Given the description of an element on the screen output the (x, y) to click on. 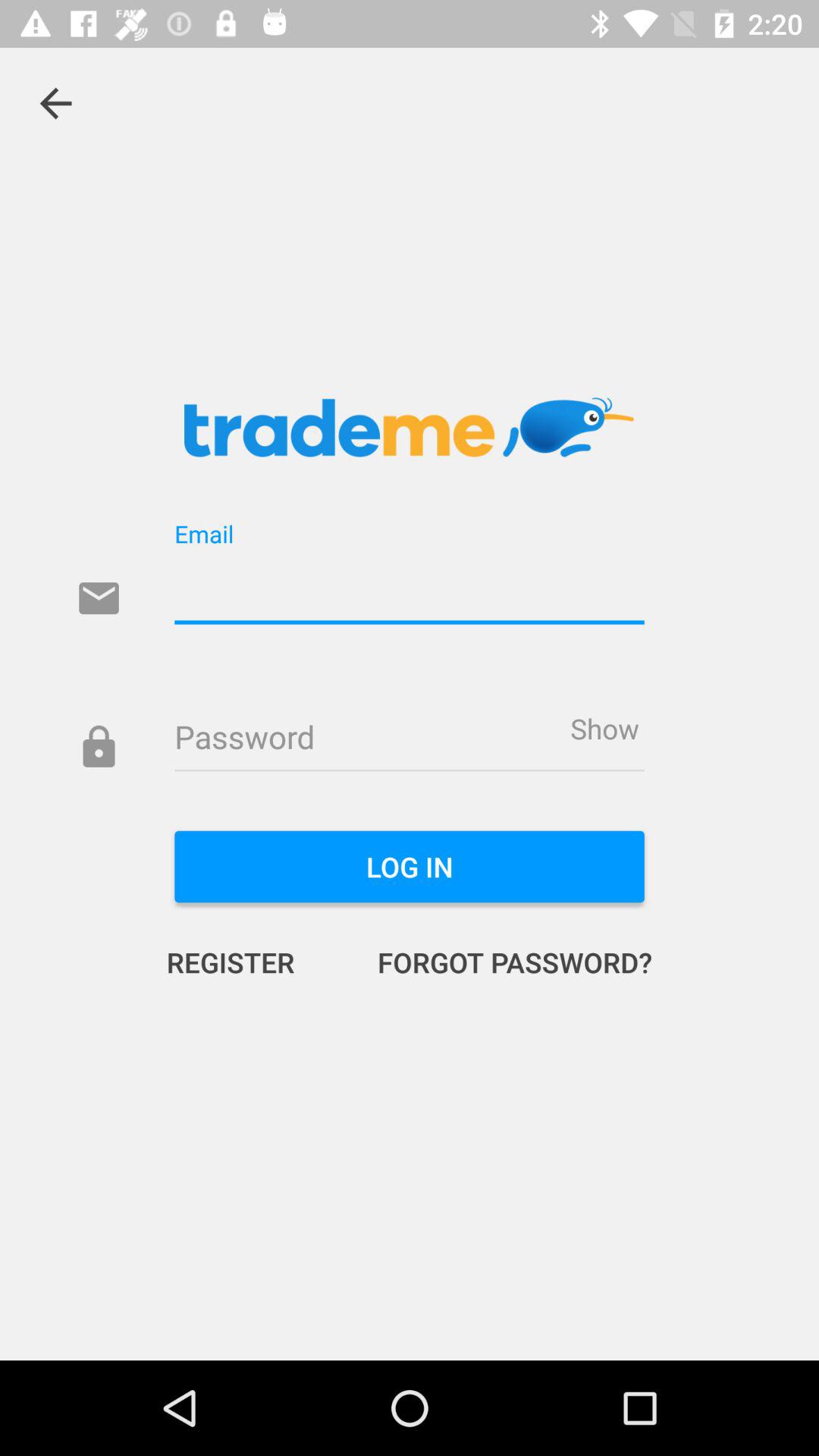
enter tha password (409, 739)
